Given the description of an element on the screen output the (x, y) to click on. 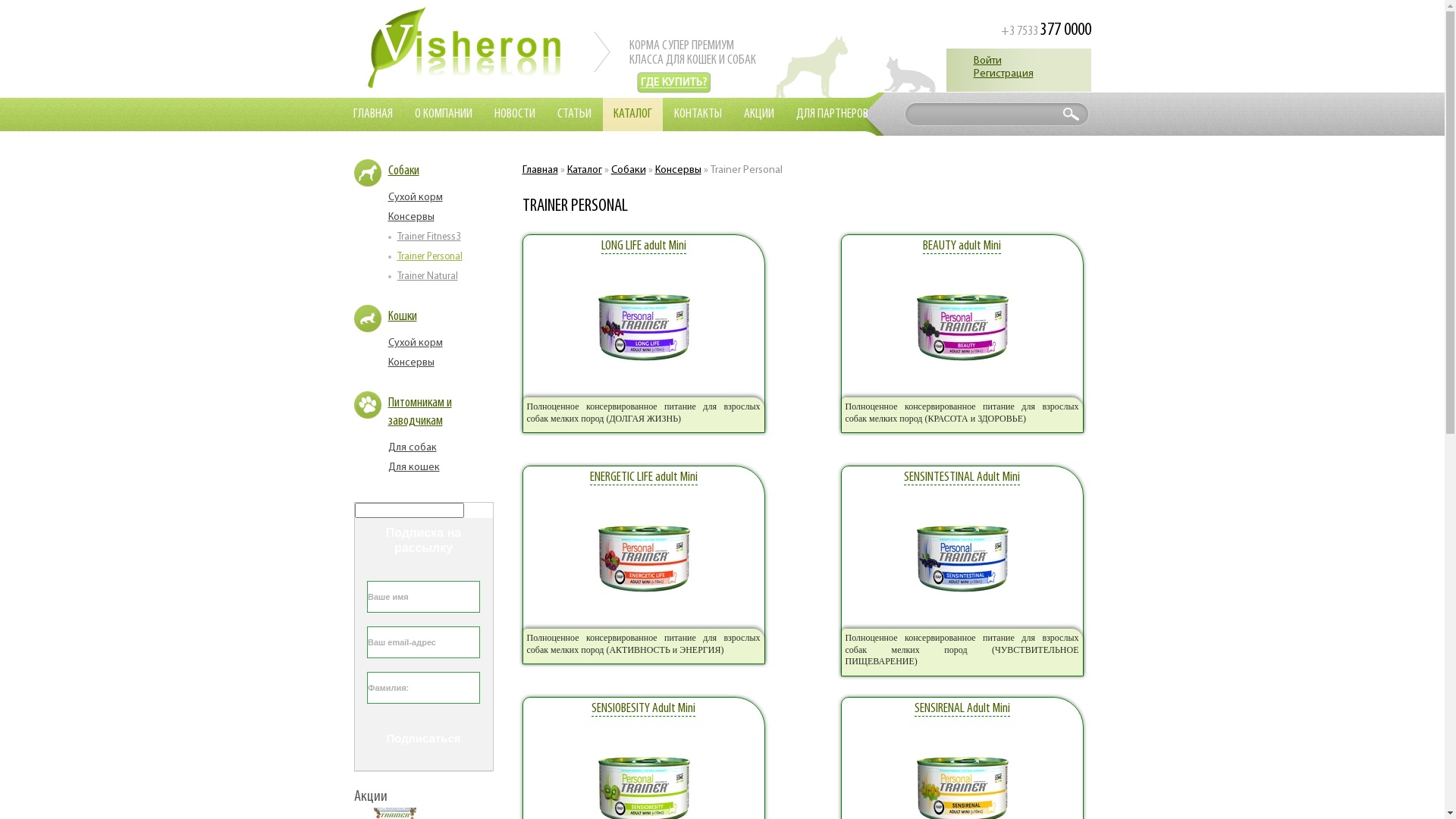
LONG LIFE adult Mini Element type: text (642, 246)
BEAUTY adult Mini Element type: text (961, 246)
ENERGETIC LIFE adult Mini Element type: text (643, 477)
SENSIRENAL Adult Mini Element type: text (962, 708)
Trainer Fitness3 Element type: text (429, 236)
Trainer Natural Element type: text (427, 276)
SENSIOBESITY Adult Mini Element type: text (643, 708)
SENSINTESTINAL Adult Mini Element type: text (961, 477)
Trainer Personal Element type: text (429, 256)
